Given the description of an element on the screen output the (x, y) to click on. 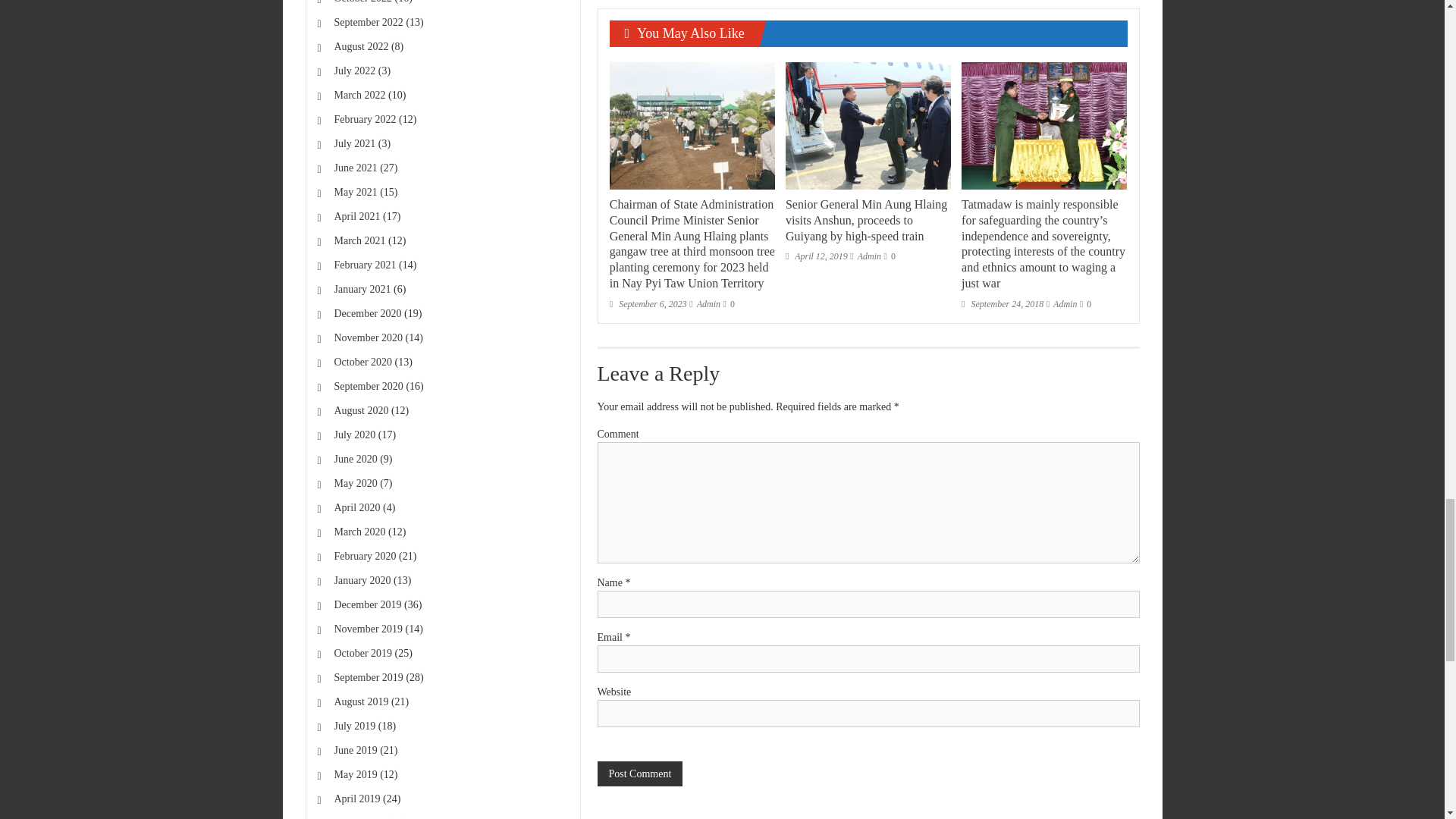
Post Comment (639, 773)
